Given the description of an element on the screen output the (x, y) to click on. 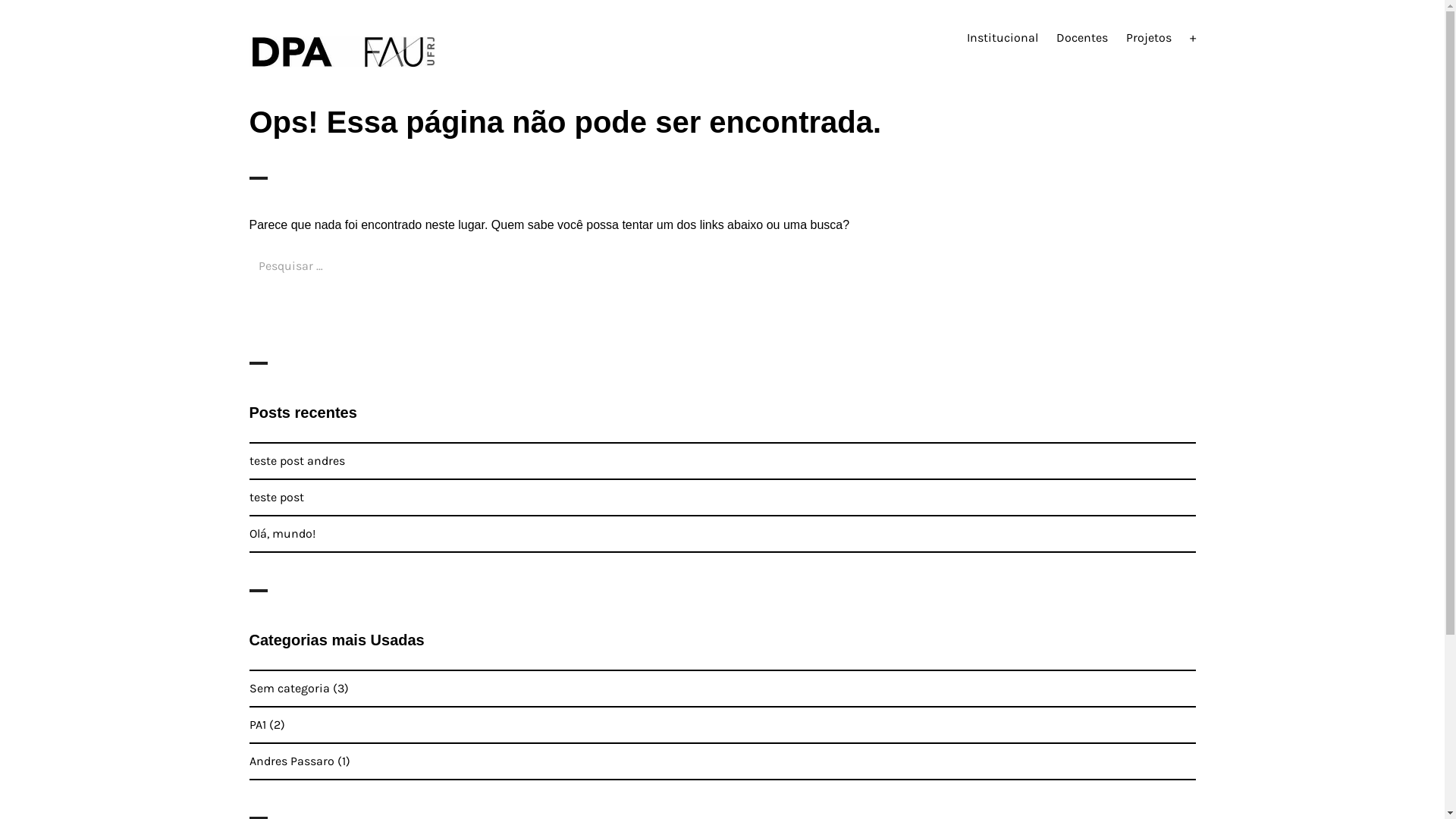
Institucional Element type: text (1001, 37)
teste post Element type: text (275, 496)
Docentes Element type: text (1081, 37)
Andres Passaro Element type: text (290, 760)
+ Element type: text (1192, 37)
Pesquisar Element type: text (284, 310)
Departamento de Projeto de Arquitetura Element type: text (428, 87)
PA1 Element type: text (256, 724)
Sem categoria Element type: text (288, 687)
Projetos Element type: text (1147, 37)
teste post andres Element type: text (296, 460)
